Given the description of an element on the screen output the (x, y) to click on. 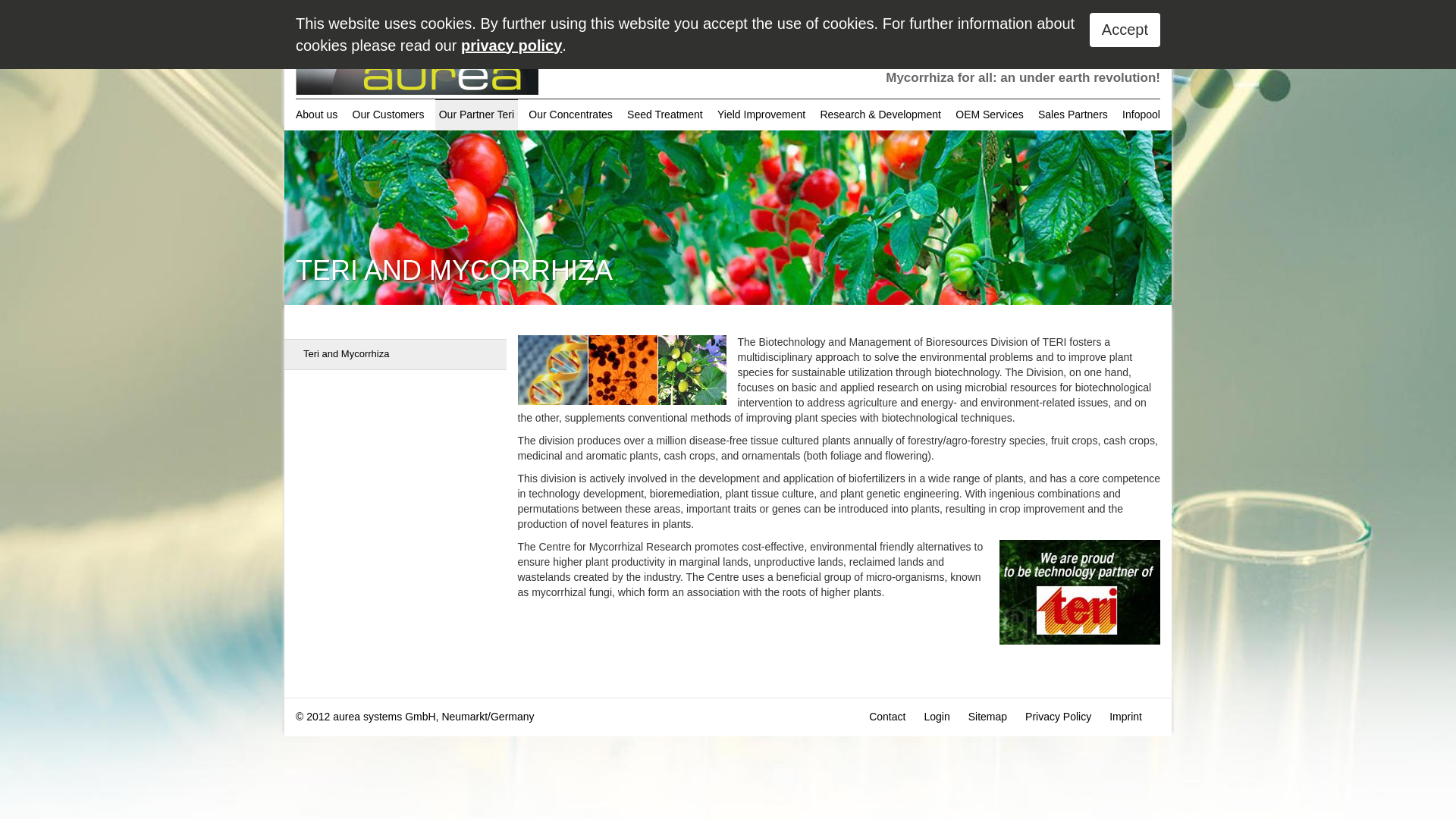
Seed Treatment (664, 114)
Yield Improvement (761, 114)
About us (317, 114)
Our Partner Teri (476, 114)
Our Concentrates (569, 114)
Sales Partners (1072, 114)
Infopool (1139, 114)
About us (317, 114)
Sales Partners (1072, 114)
Yield Improvement (761, 114)
Our Customers (388, 114)
OEM Services (989, 114)
Our Customers (388, 114)
Our Partner Teri (476, 114)
OEM Services (989, 114)
